Given the description of an element on the screen output the (x, y) to click on. 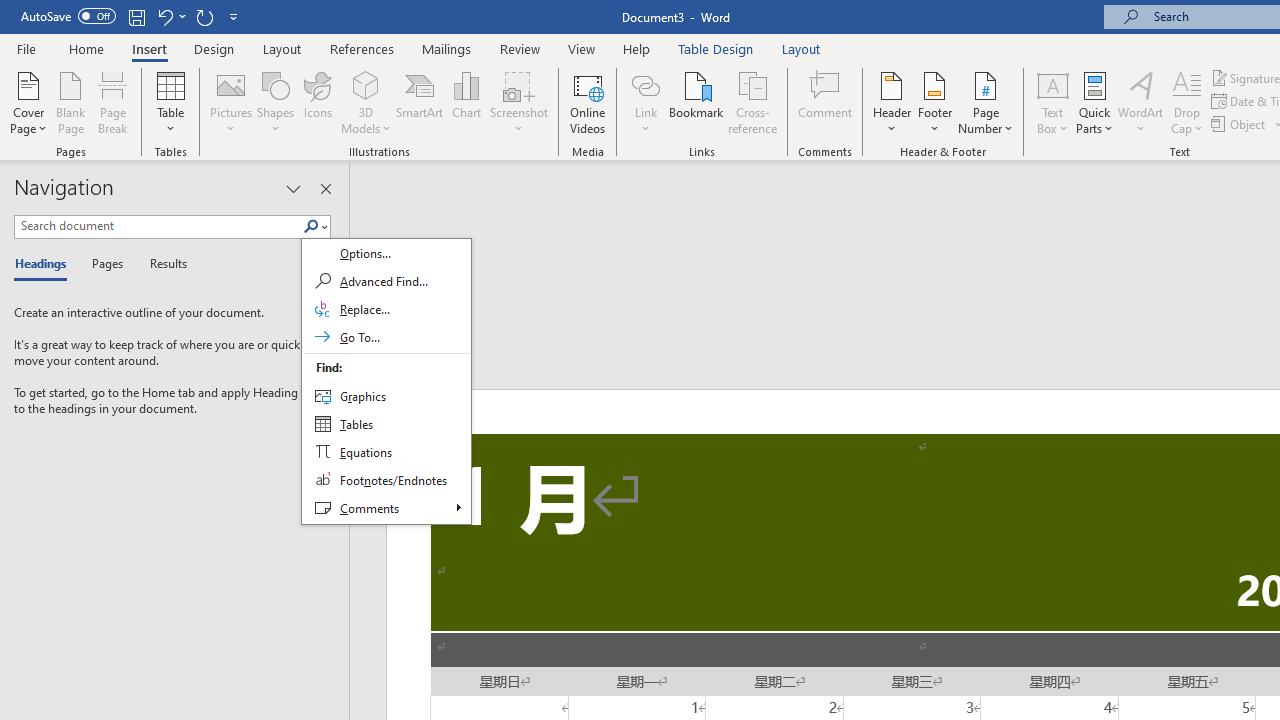
Icons (317, 102)
Blank Page (70, 102)
Drop Cap (1187, 102)
Page Break (113, 102)
3D Models (366, 84)
Comment (825, 102)
Chart... (466, 102)
